Given the description of an element on the screen output the (x, y) to click on. 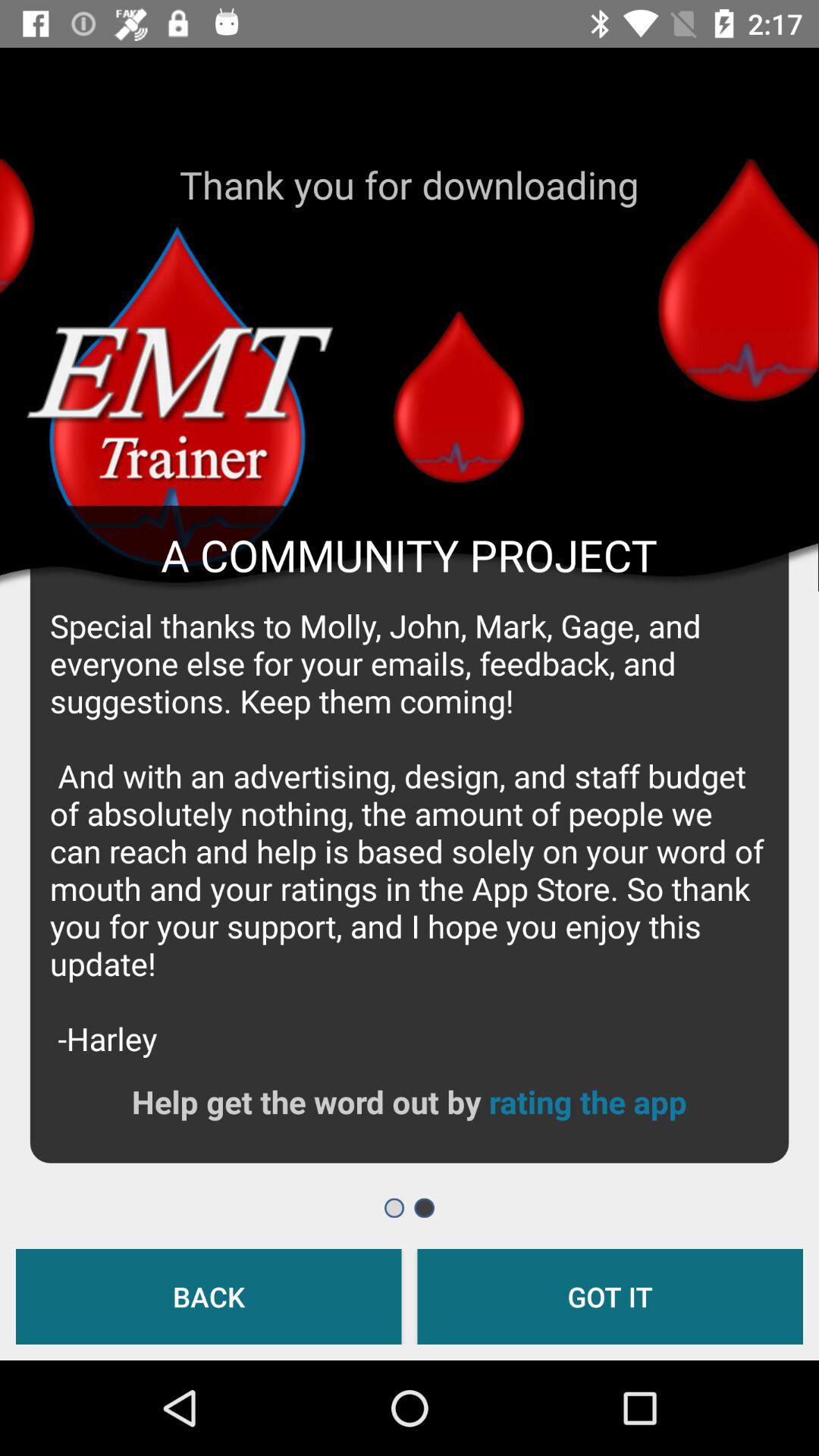
turn off the item next to help get the item (588, 1101)
